Given the description of an element on the screen output the (x, y) to click on. 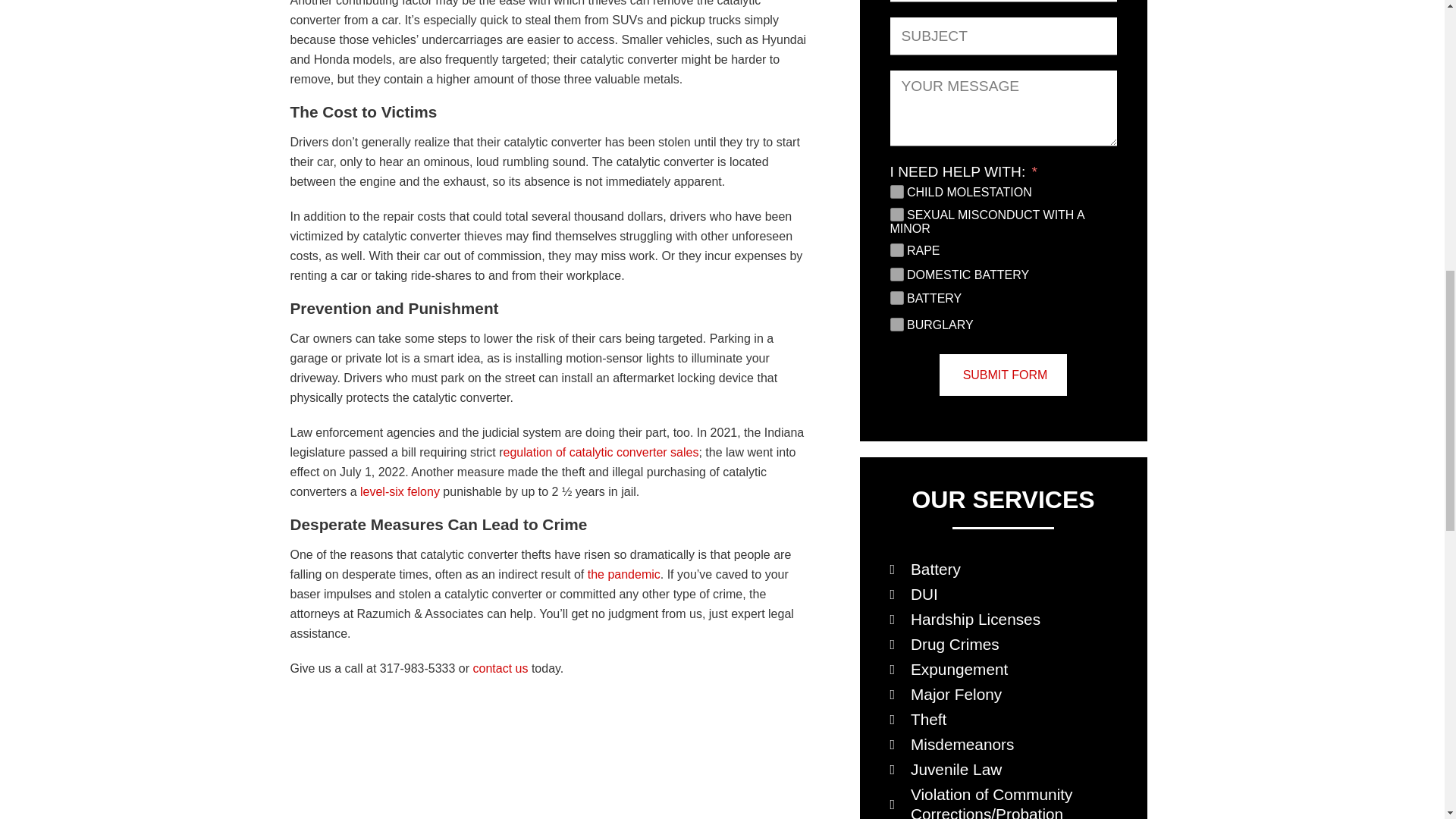
Battery (896, 297)
Burglary (896, 324)
Child Molestation (896, 192)
Domestic Battery (896, 274)
Sexual Misconduct with a Minor (896, 214)
Rape (896, 250)
